Given the description of an element on the screen output the (x, y) to click on. 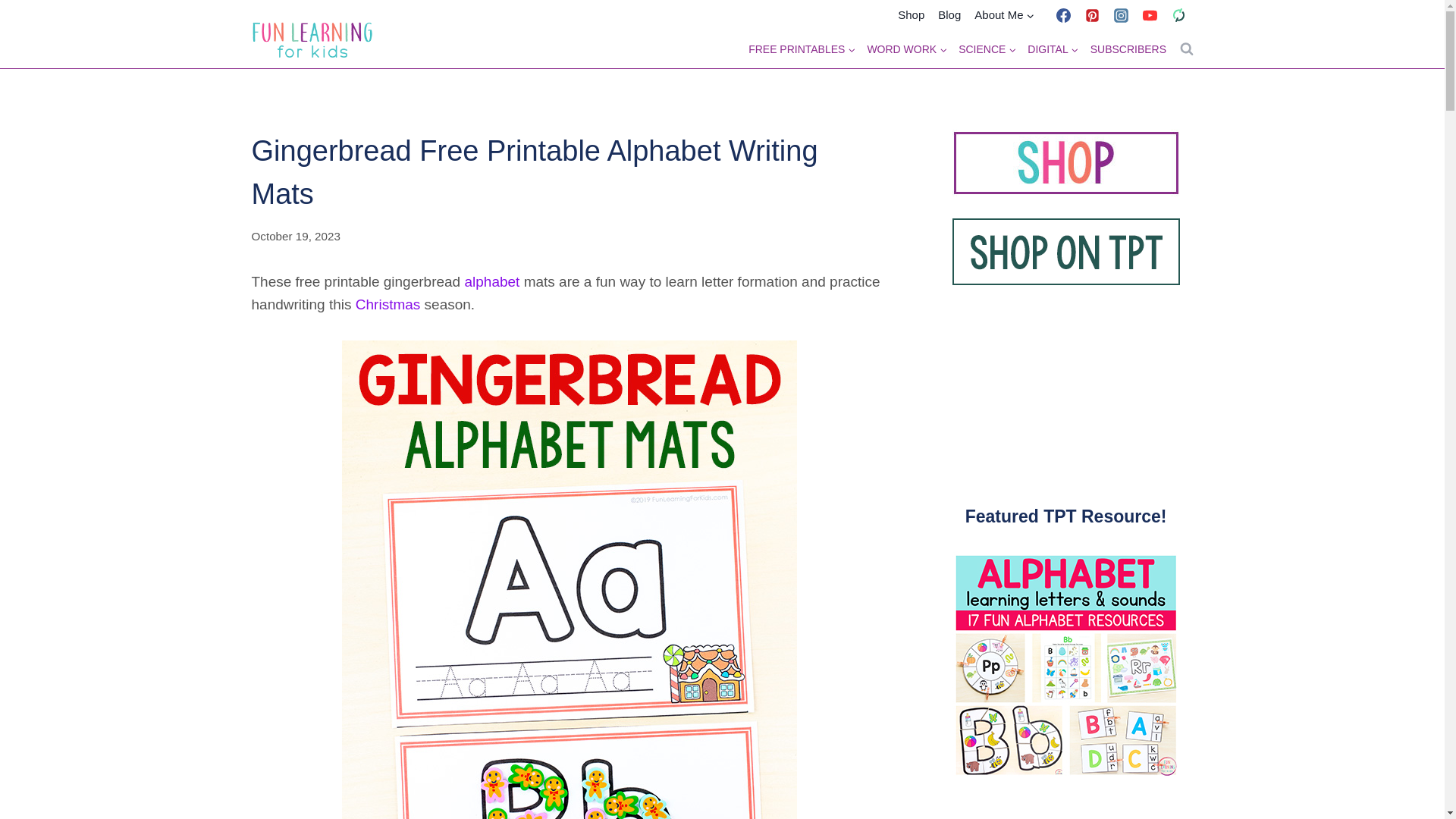
About Me (1004, 15)
Blog (949, 15)
SCIENCE (987, 49)
DIGITAL (1053, 49)
FREE PRINTABLES (801, 49)
WORD WORK (907, 49)
Shop (911, 15)
